Given the description of an element on the screen output the (x, y) to click on. 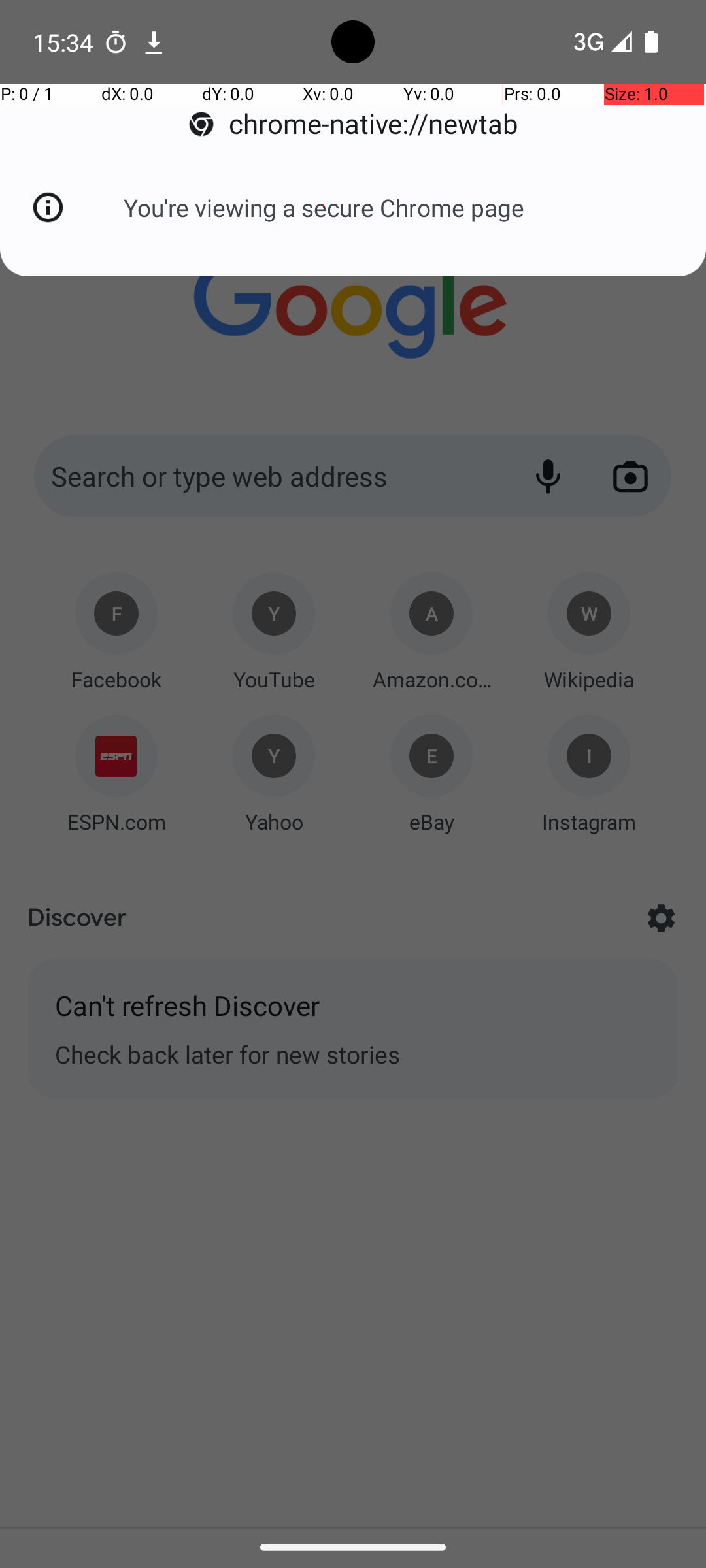
You're viewing a secure Chrome page Element type: android.widget.TextView (323, 207)
chrome-native://newtab Element type: android.widget.TextView (352, 124)
Chrome notification: m.youtube.com Element type: android.widget.ImageView (153, 41)
